Given the description of an element on the screen output the (x, y) to click on. 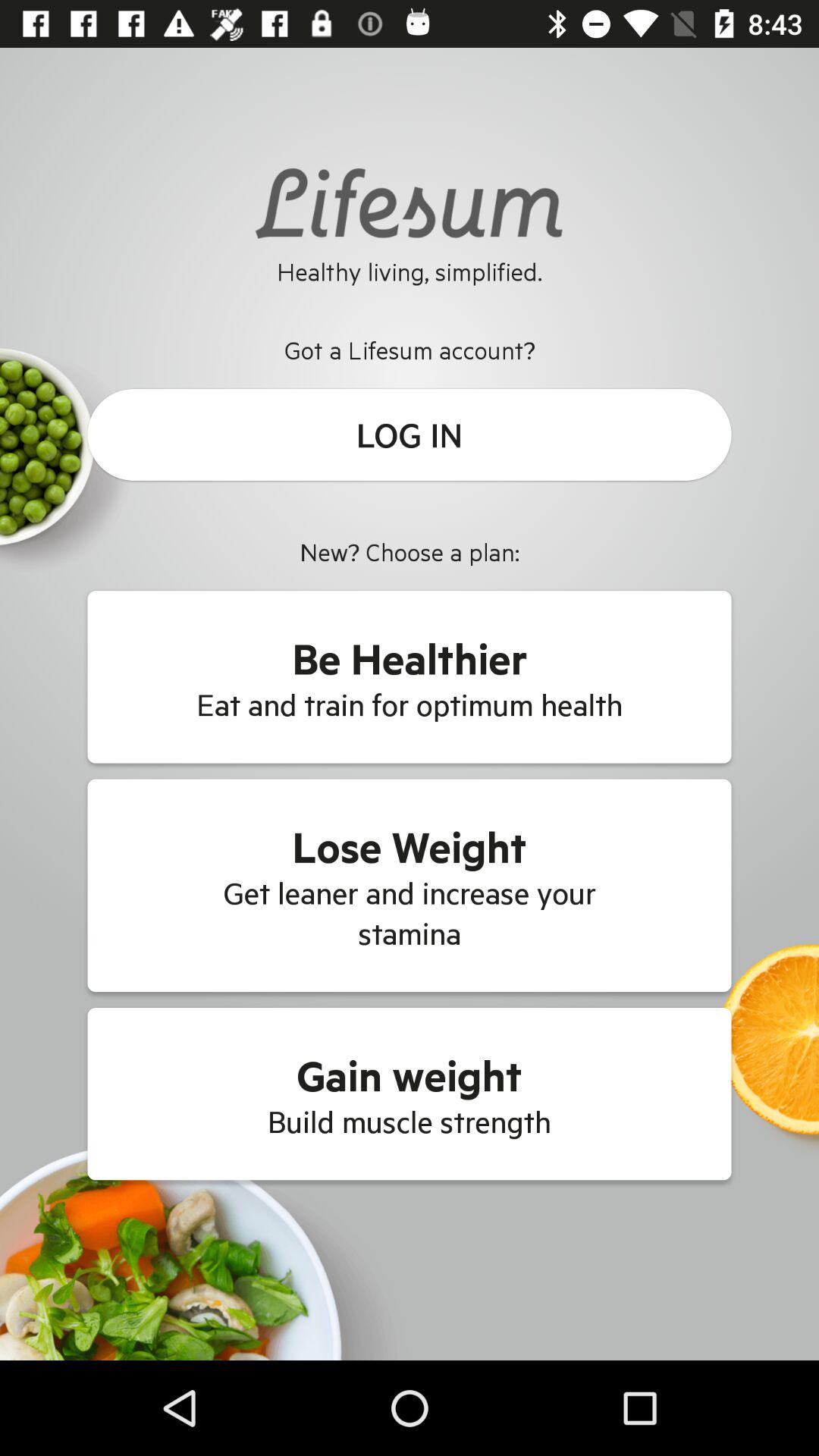
choose icon above new choose a icon (409, 434)
